Given the description of an element on the screen output the (x, y) to click on. 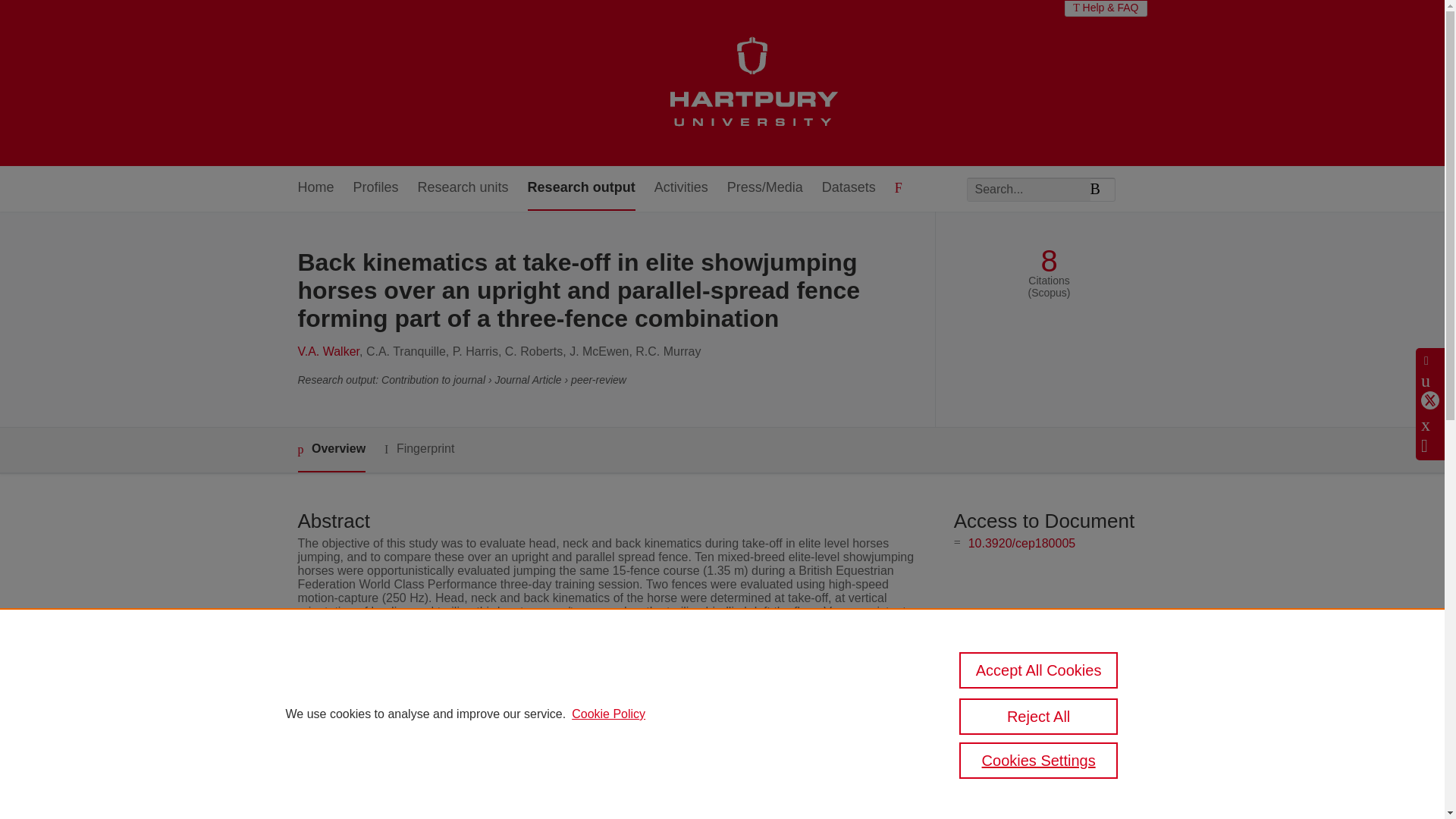
Datasets (849, 188)
V.A. Walker (328, 350)
Research units (462, 188)
Research output (580, 188)
Overview (331, 449)
Activities (680, 188)
Hartpury University Home (752, 82)
Fingerprint (419, 448)
Profiles (375, 188)
